Given the description of an element on the screen output the (x, y) to click on. 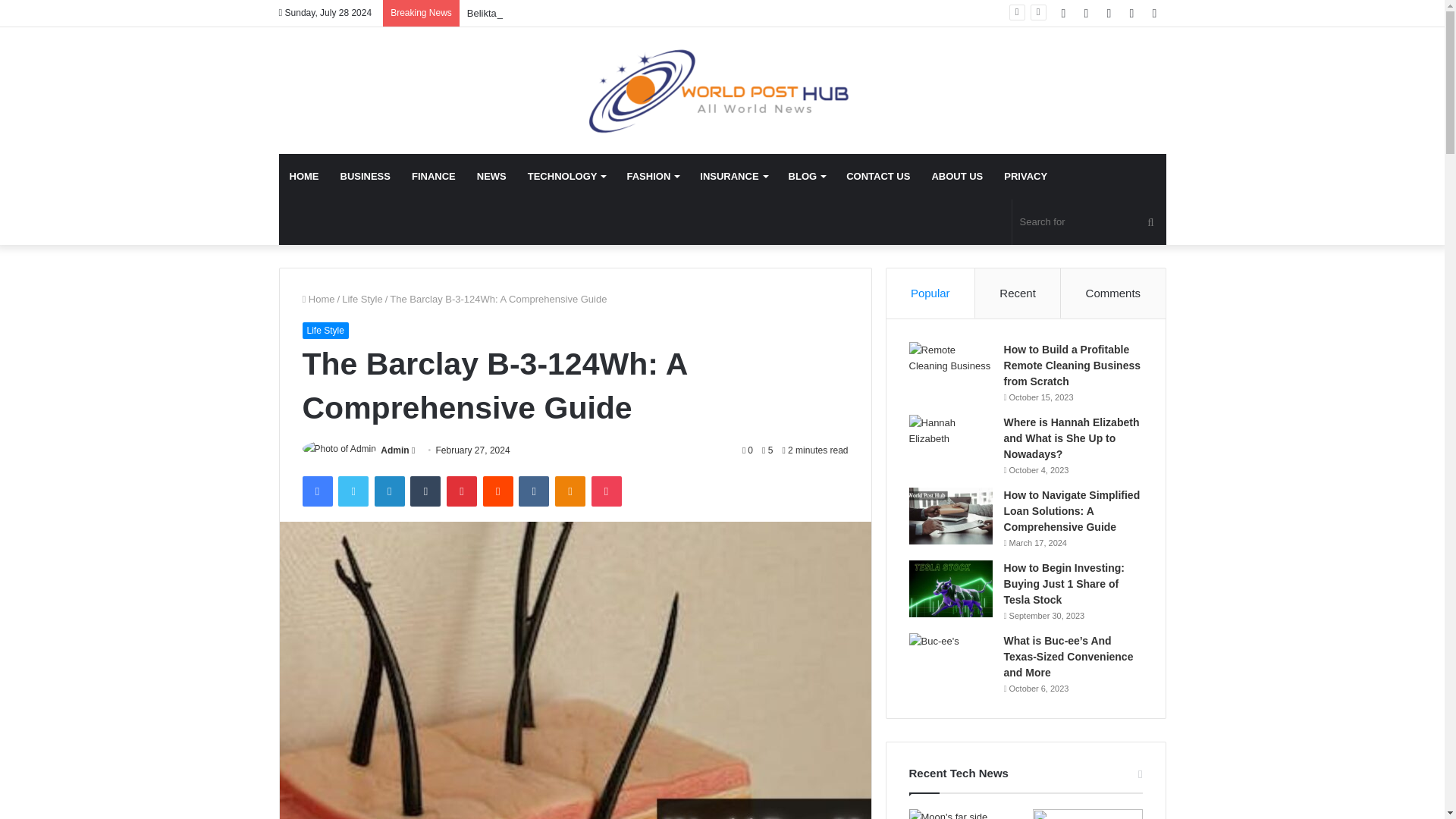
PRIVACY (1025, 176)
Home (317, 298)
YouTube (1109, 13)
Reddit (498, 490)
Life Style (361, 298)
BLOG (806, 176)
Search for (1088, 221)
NEWS (490, 176)
Admin (394, 450)
LinkedIn (389, 490)
Pocket (606, 490)
Facebook (1063, 13)
Life Style (324, 330)
Instagram (1131, 13)
